Given the description of an element on the screen output the (x, y) to click on. 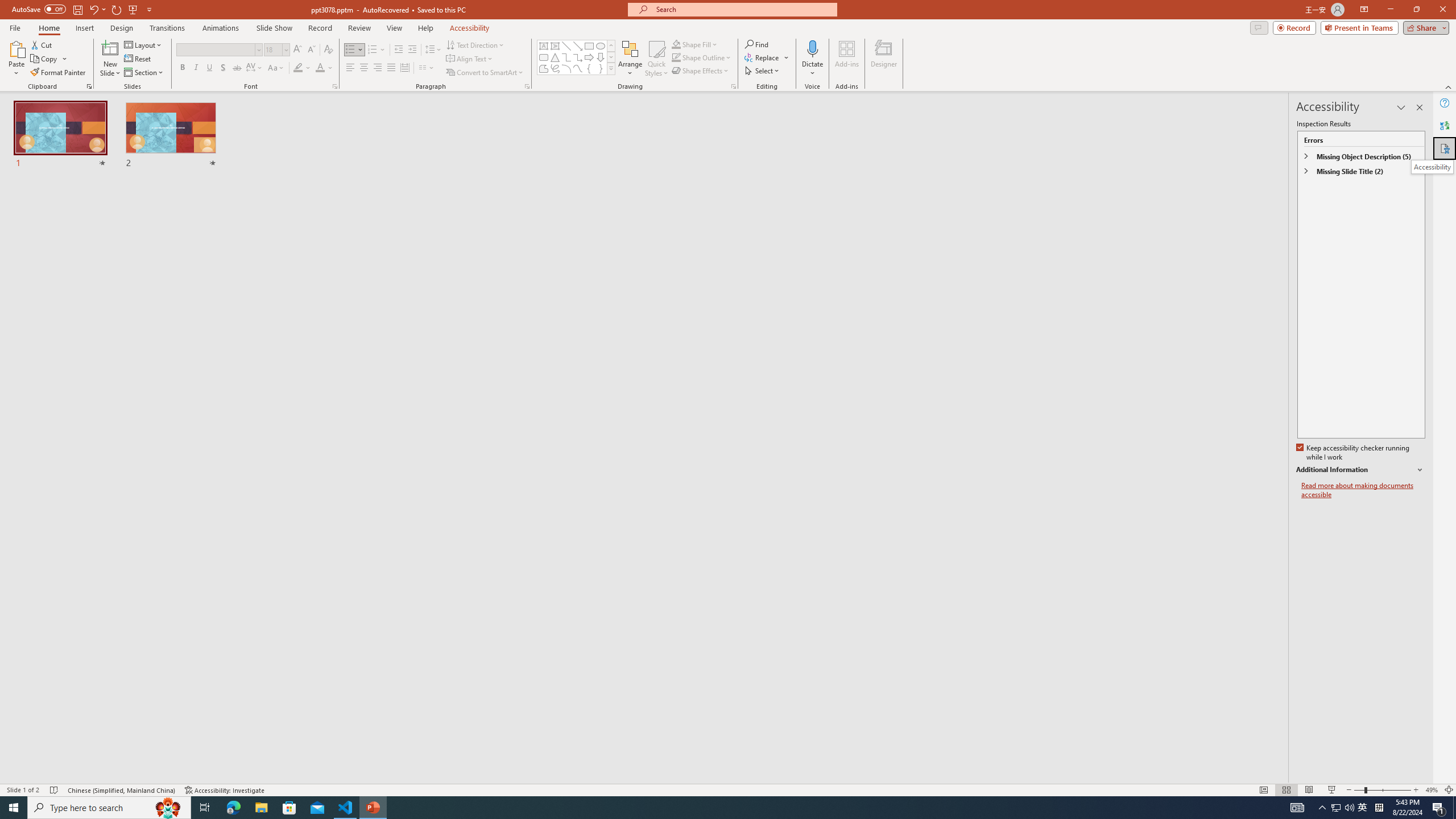
Shape Fill Dark Green, Accent 2 (675, 44)
